Given the description of an element on the screen output the (x, y) to click on. 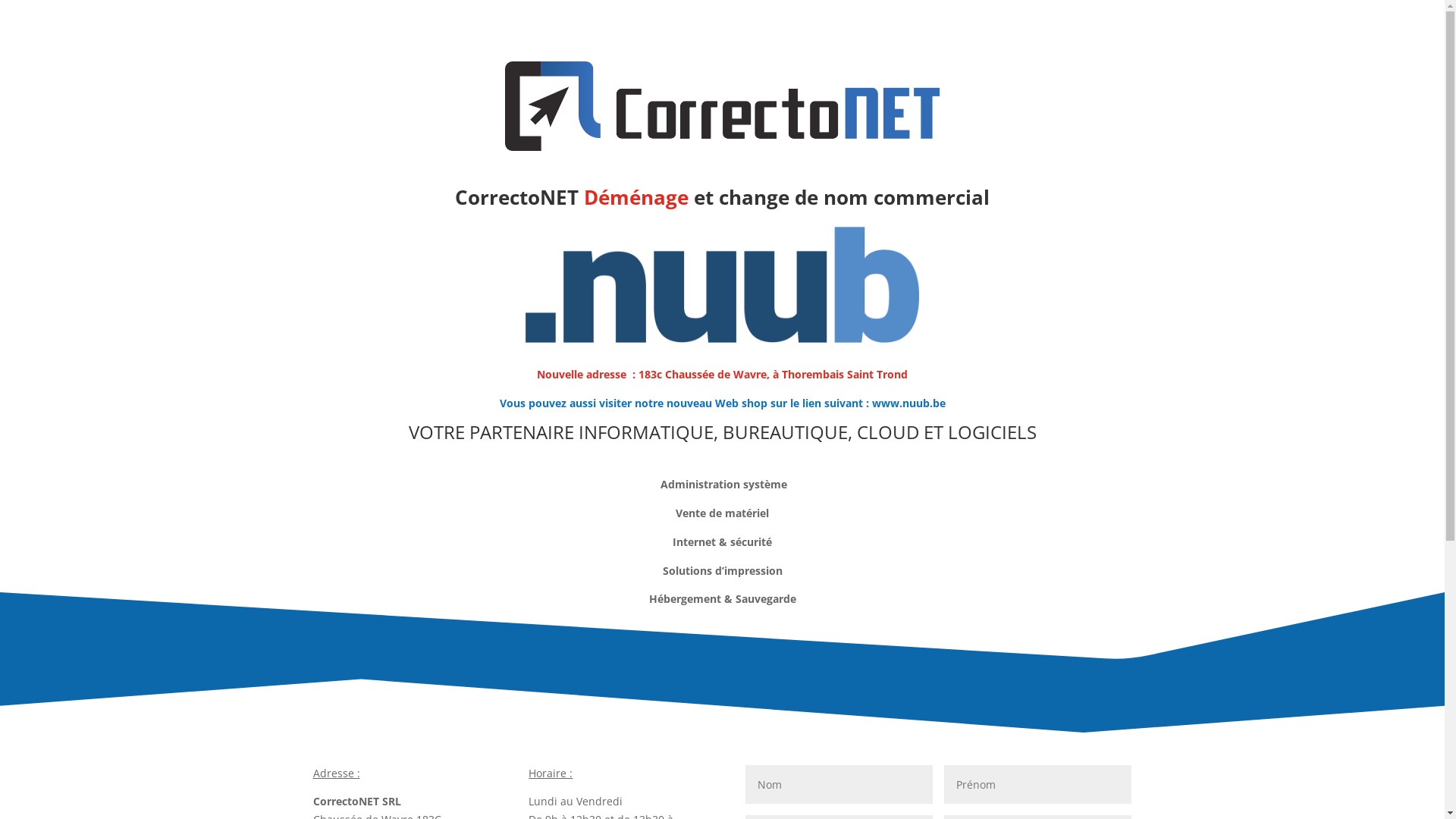
logo_simple Element type: hover (721, 105)
www.nuub.be Element type: text (908, 402)
Nuub Element type: hover (721, 284)
